Given the description of an element on the screen output the (x, y) to click on. 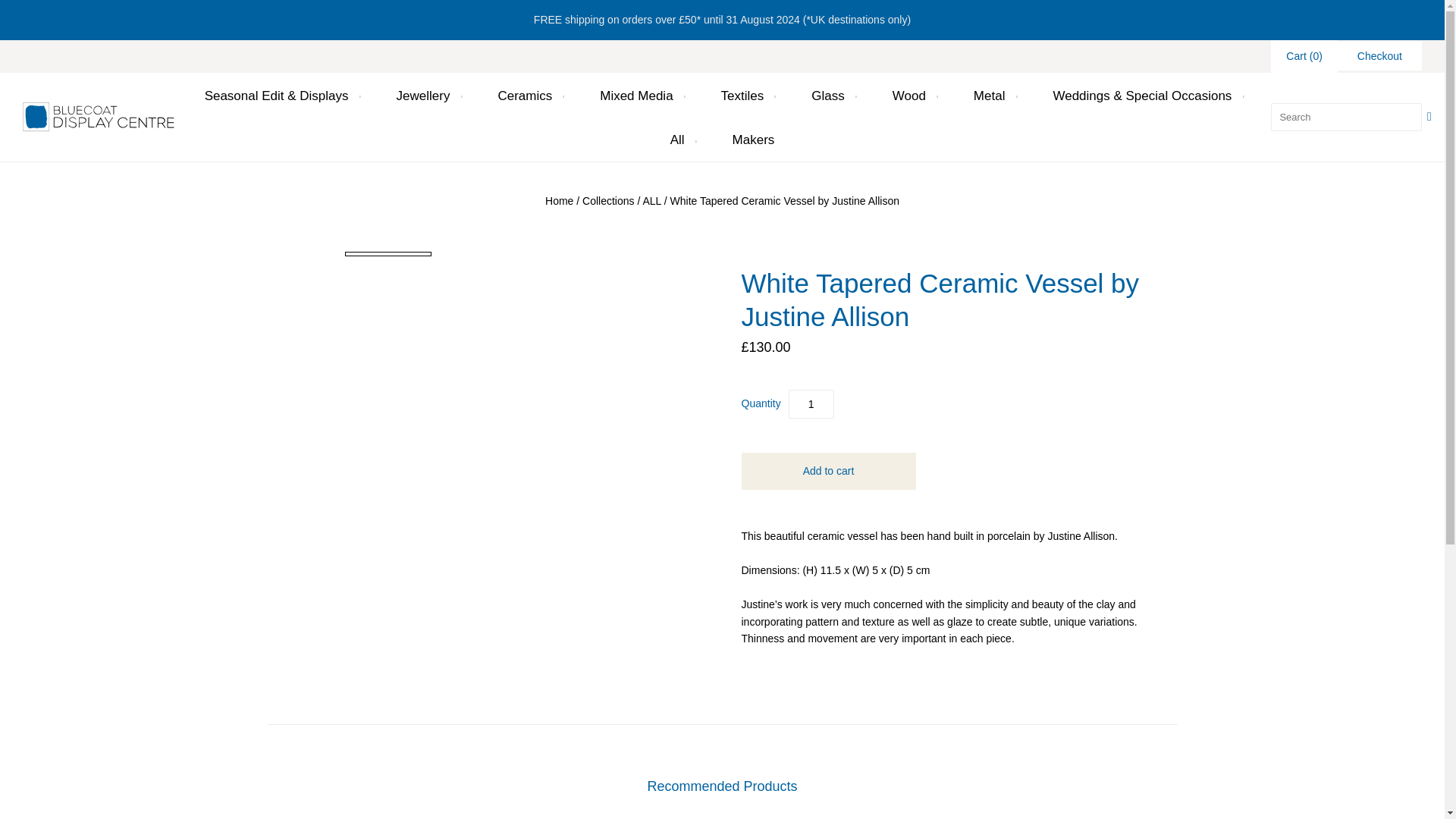
Metal (993, 95)
Wood (912, 95)
1 (811, 403)
Textiles (746, 95)
Checkout (1379, 56)
Add to cart (828, 470)
Ceramics (528, 95)
Glass (832, 95)
Mixed Media (639, 95)
Jewellery (428, 95)
